Given the description of an element on the screen output the (x, y) to click on. 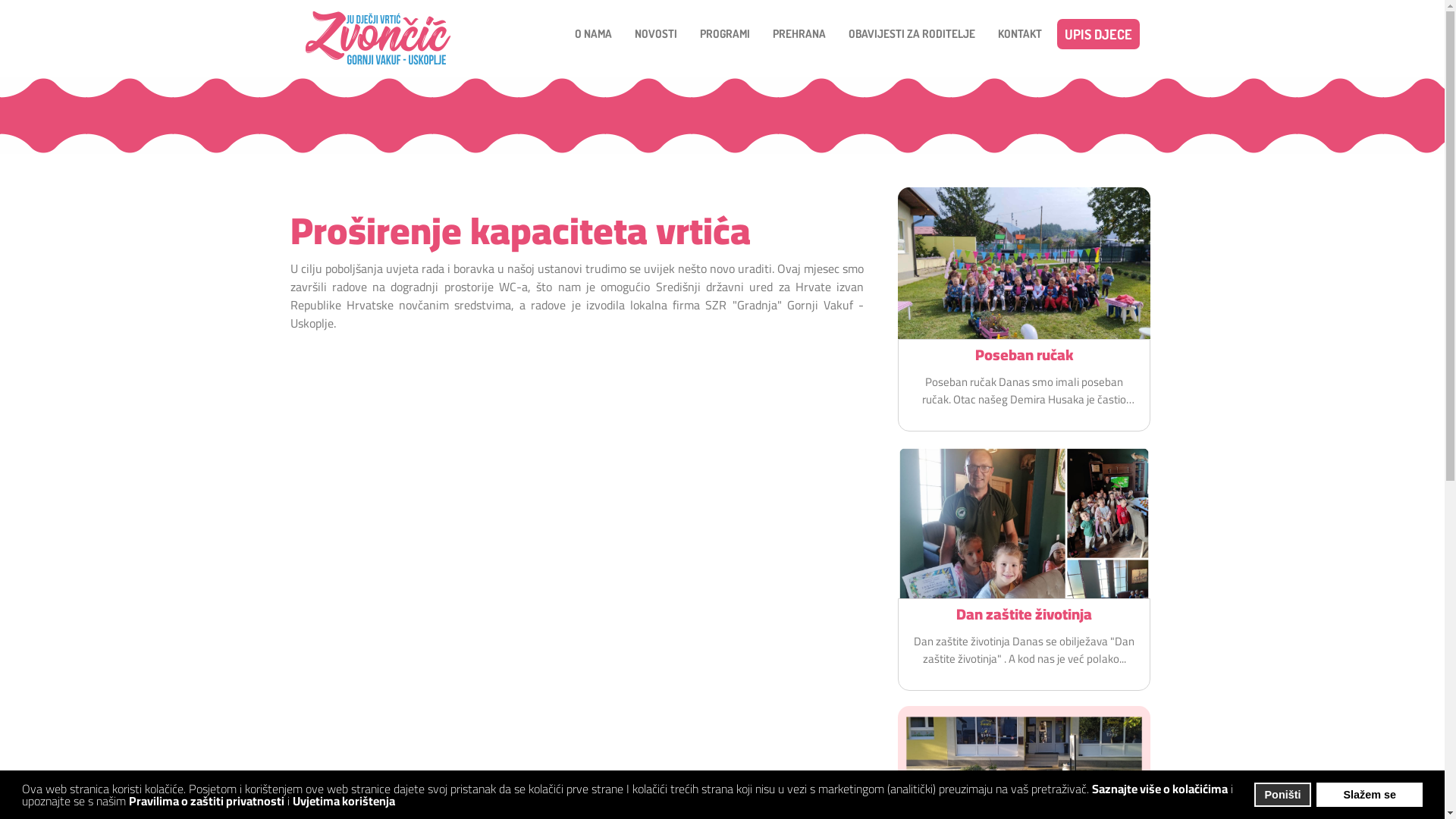
OBAVIJESTI ZA RODITELJE Element type: text (911, 33)
KONTAKT Element type: text (1019, 33)
PROGRAMI Element type: text (723, 33)
PREHRANA Element type: text (798, 33)
UPIS DJECE Element type: text (1098, 33)
NOVOSTI Element type: text (655, 33)
O NAMA Element type: text (593, 33)
